Given the description of an element on the screen output the (x, y) to click on. 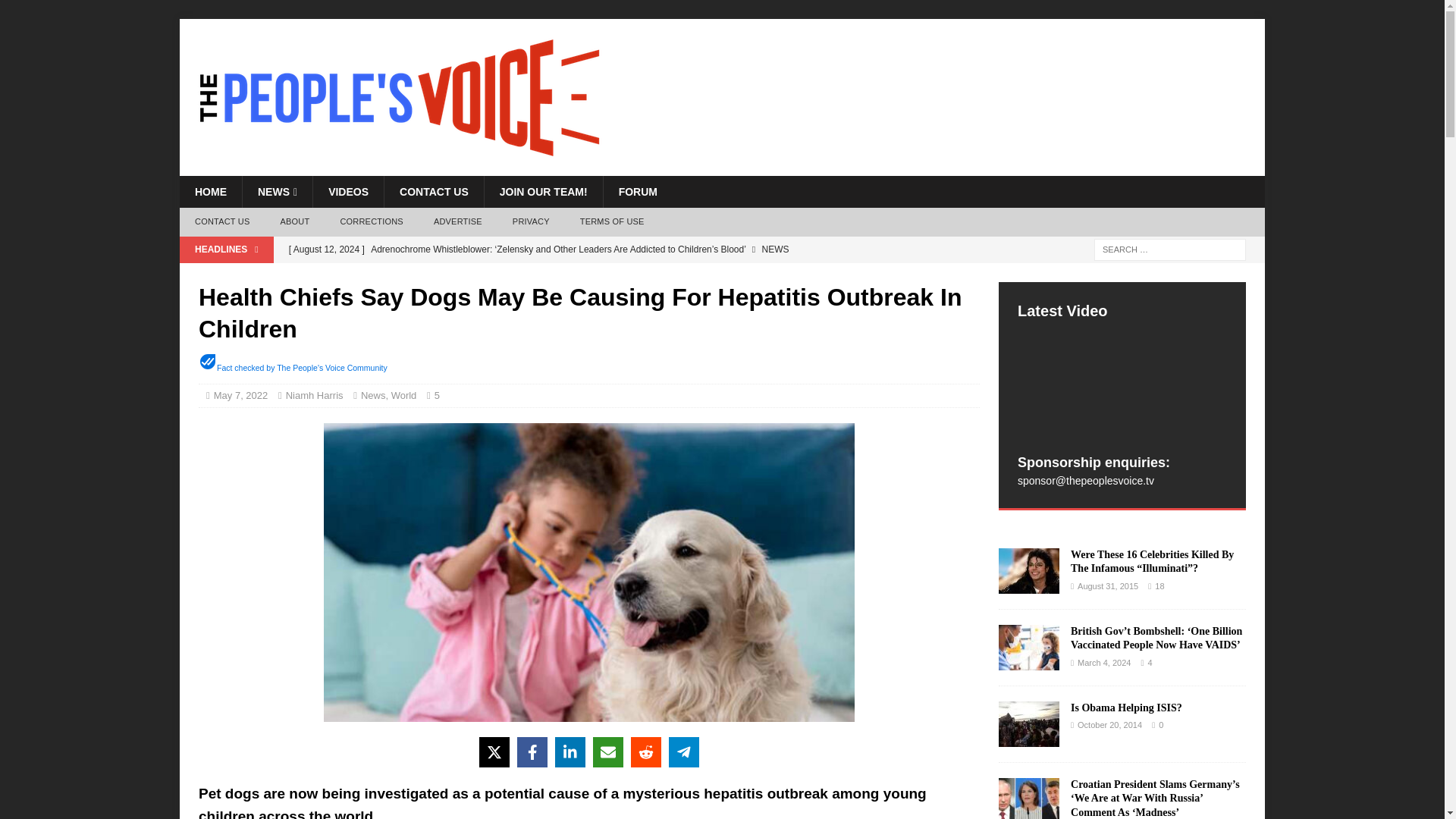
CONTACT US (221, 222)
ADVERTISE (458, 222)
JOIN OUR TEAM! (542, 192)
CONTACT US (433, 192)
ABOUT (294, 222)
VIDEOS (348, 192)
TERMS OF USE (611, 222)
FORUM (637, 192)
PRIVACY (530, 222)
